Given the description of an element on the screen output the (x, y) to click on. 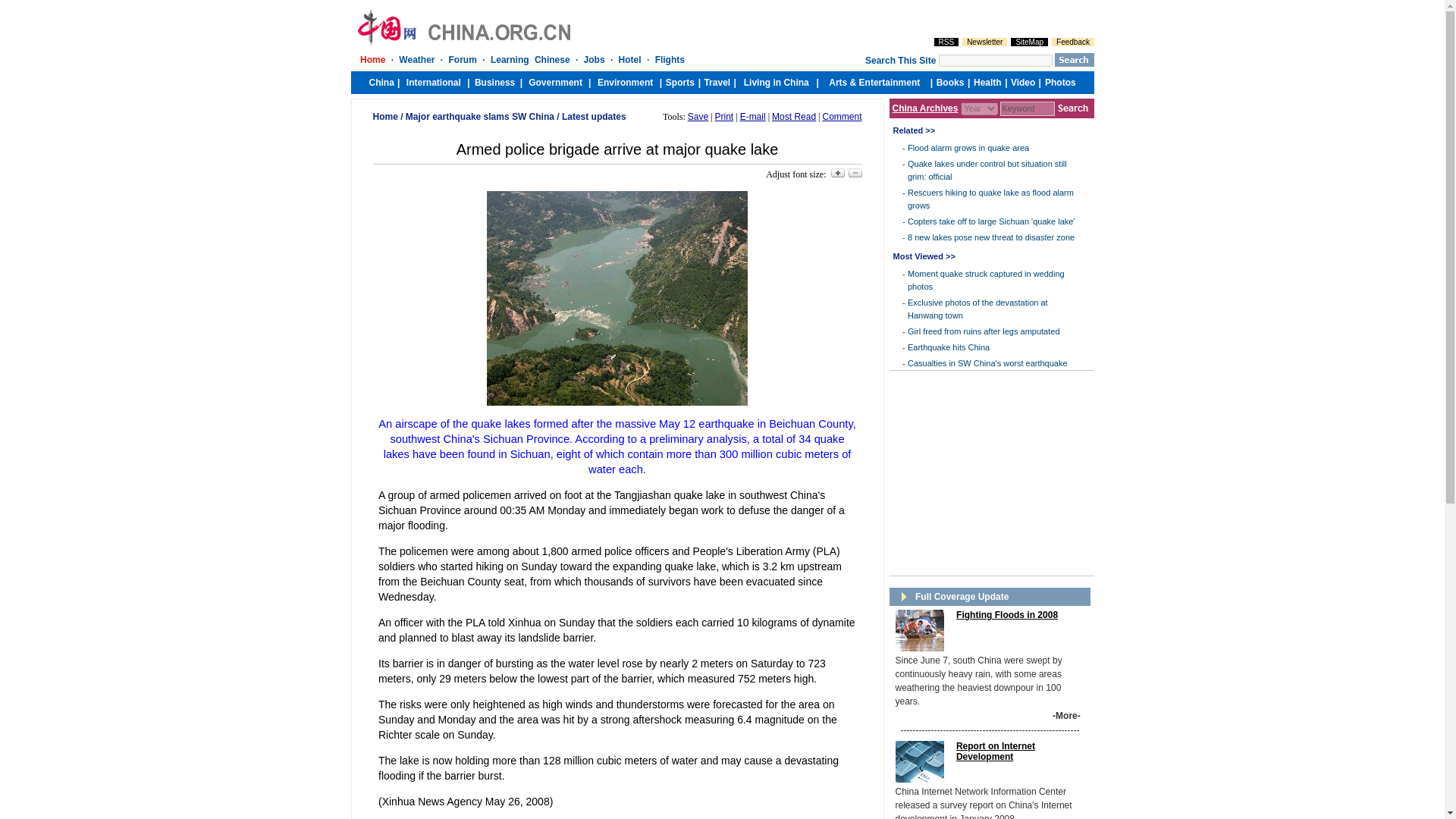
Girl freed from ruins after legs amputated (983, 330)
Keyword (1026, 108)
Save (697, 116)
Flood alarm grows in quake area (968, 147)
Moment quake struck captured in wedding photos (985, 280)
Latest updates (594, 116)
Earthquake hits China (948, 347)
E-mail (752, 116)
Comment (841, 116)
Major earthquake slams SW China (480, 116)
